Given the description of an element on the screen output the (x, y) to click on. 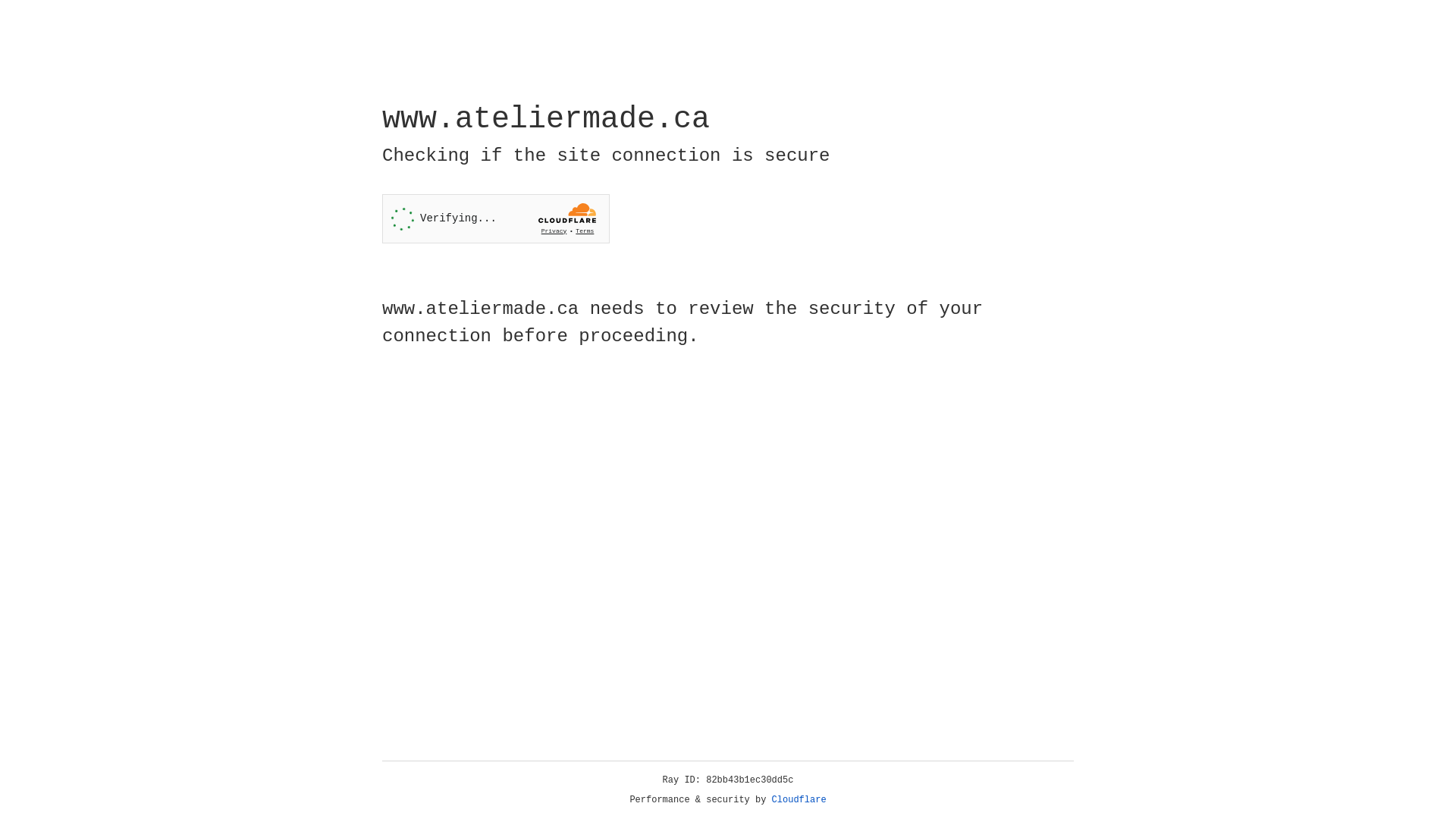
Cloudflare Element type: text (798, 799)
Widget containing a Cloudflare security challenge Element type: hover (495, 218)
